Given the description of an element on the screen output the (x, y) to click on. 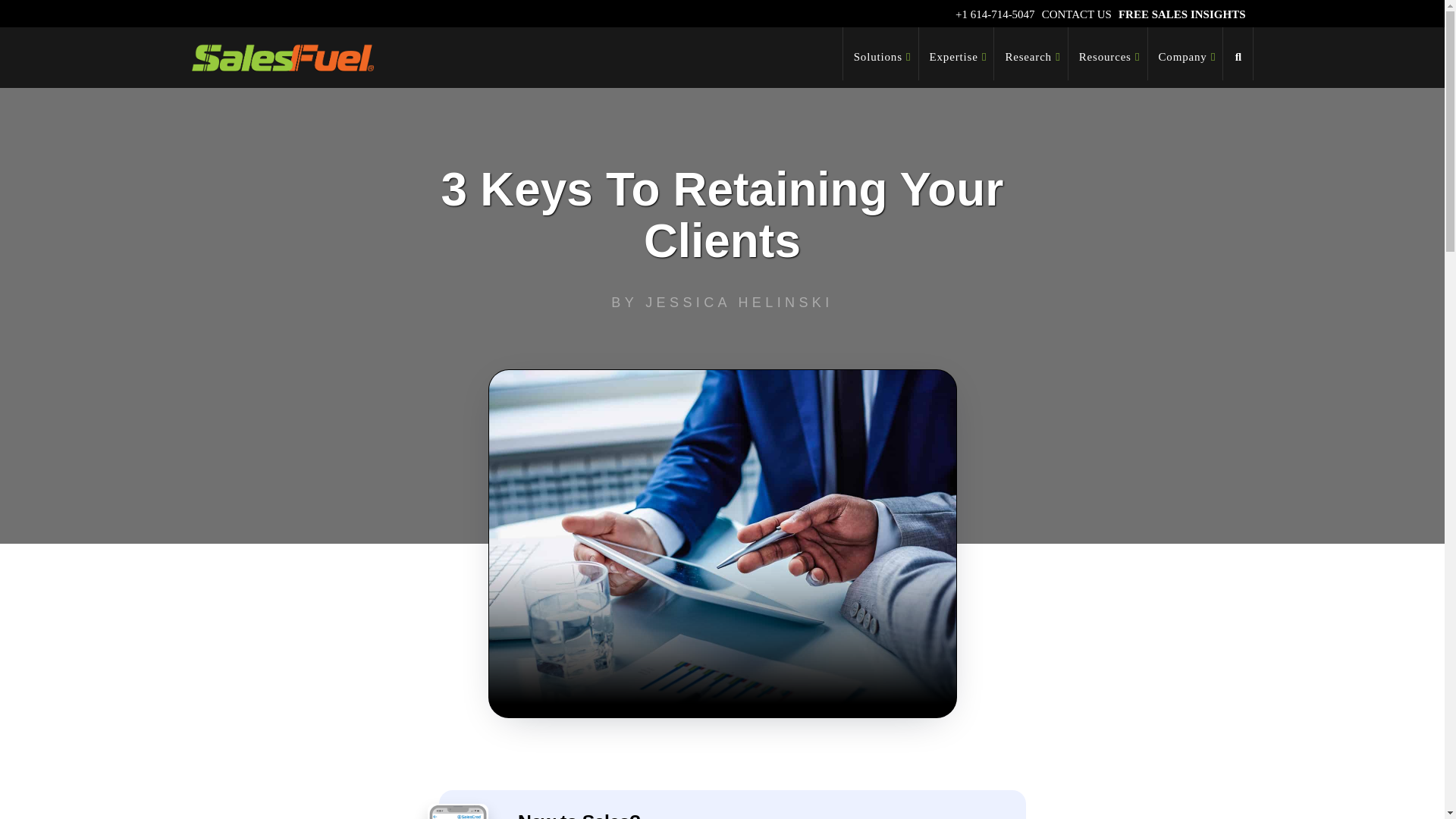
FREE SALES INSIGHTS (1182, 14)
Company (1186, 53)
Expertise (956, 53)
Solutions (880, 53)
Resources (1108, 53)
CONTACT US (1077, 14)
Research (1030, 53)
